Given the description of an element on the screen output the (x, y) to click on. 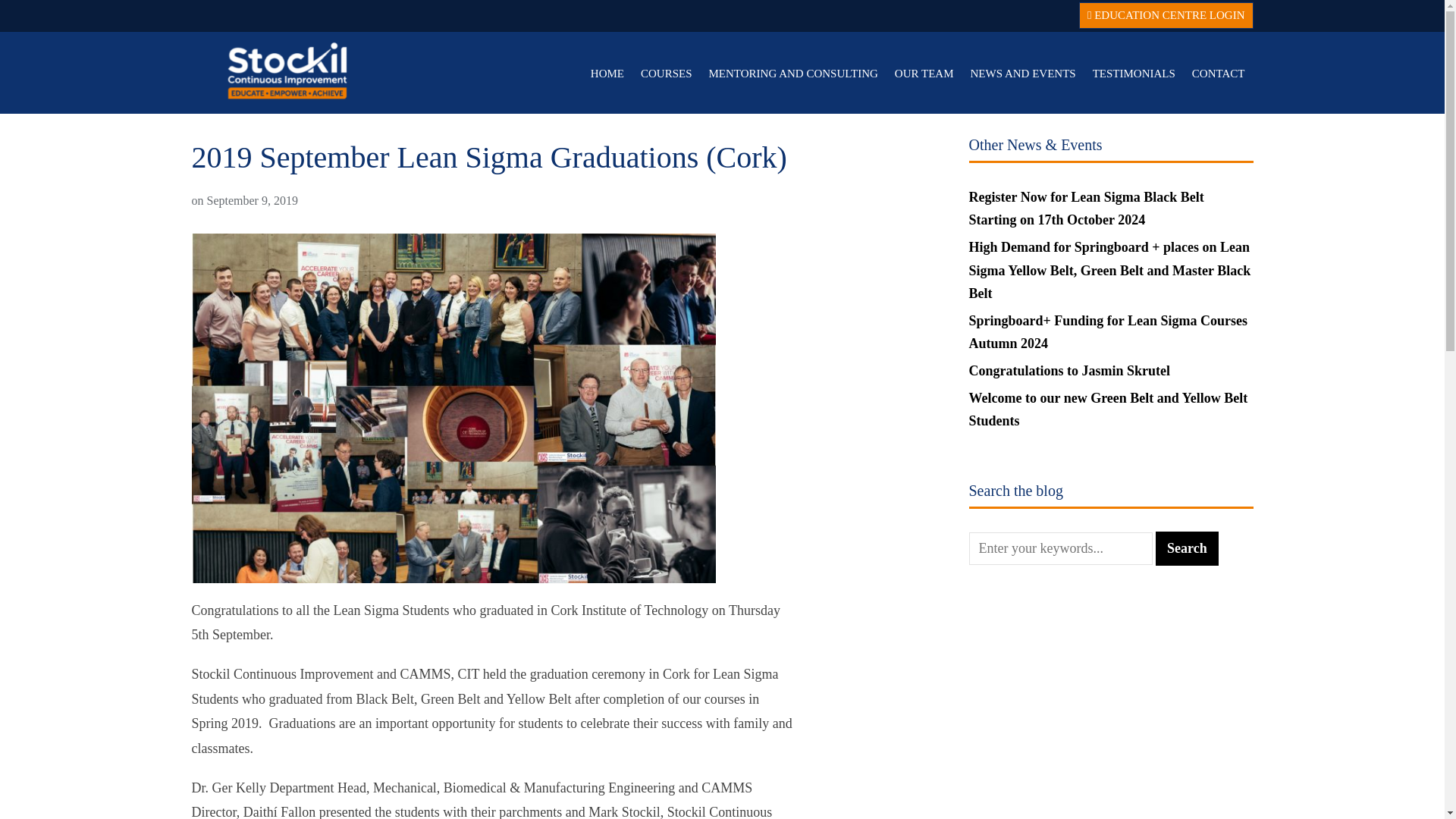
Search (1187, 548)
MENTORING AND CONSULTING (793, 73)
TESTIMONIALS (1133, 73)
COURSES (665, 73)
OUR TEAM (924, 73)
CONTACT (1218, 73)
HOME (606, 73)
EDUCATION CENTRE LOGIN (1165, 15)
Welcome to our new Green Belt and Yellow Belt Students (1108, 409)
